Given the description of an element on the screen output the (x, y) to click on. 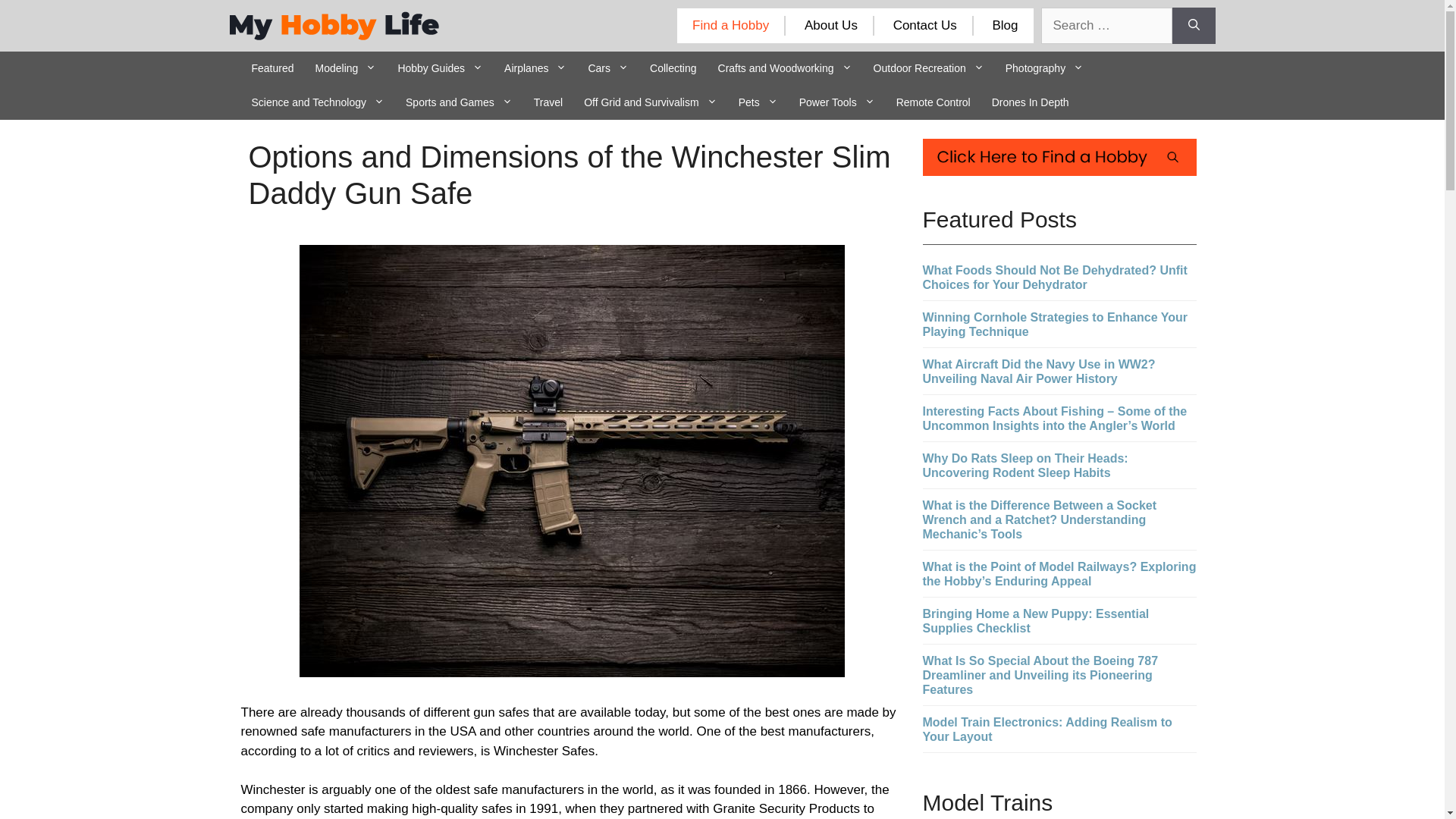
Contact Us (924, 25)
Airplanes (534, 68)
Blog (1004, 25)
About Us (831, 25)
Collecting (672, 68)
Search for: (1106, 25)
Crafts and Woodworking (785, 68)
Cars (607, 68)
Hobby Guides (440, 68)
Featured (272, 68)
